Given the description of an element on the screen output the (x, y) to click on. 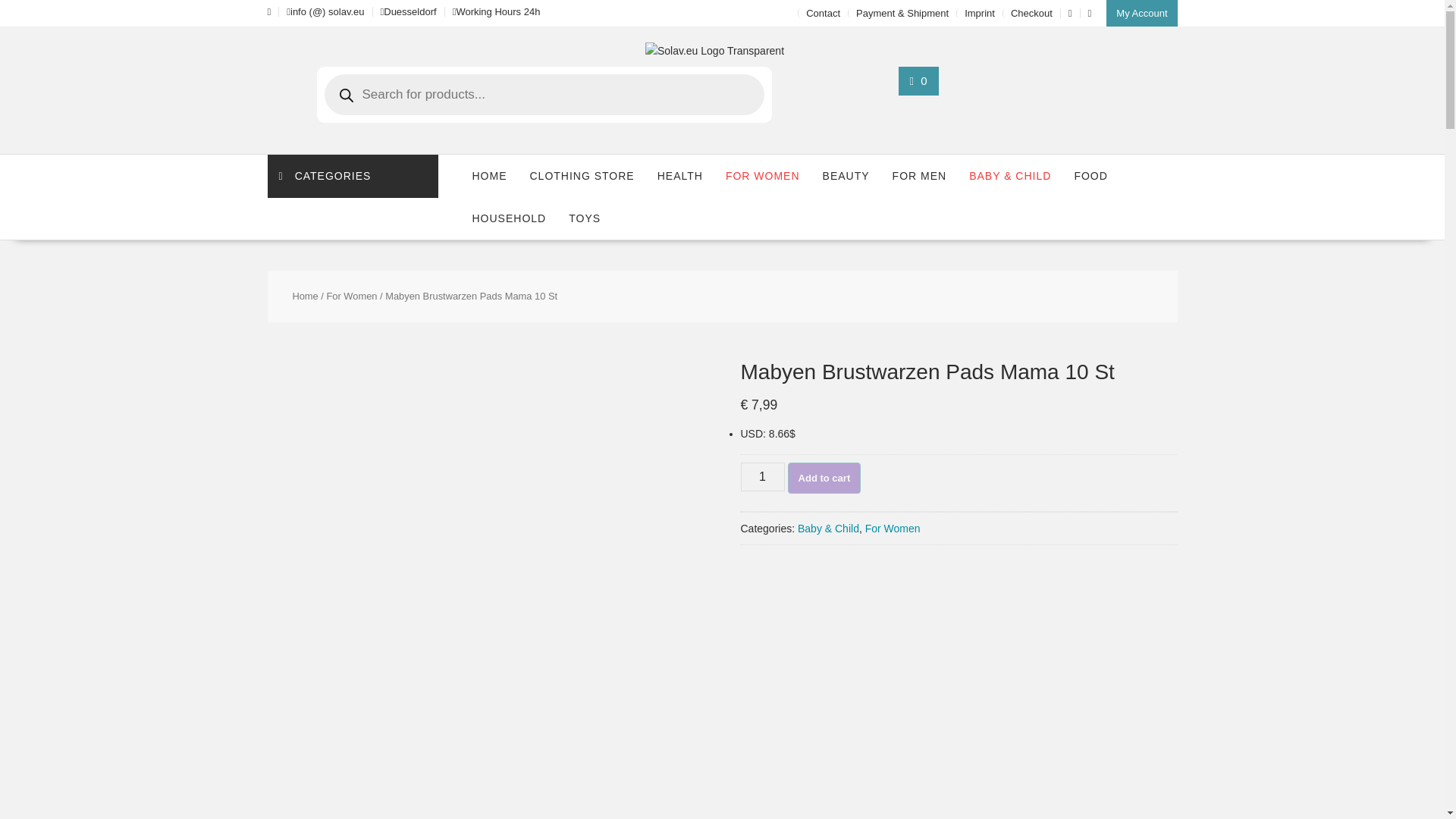
My Account (1141, 13)
CATEGORIES (352, 176)
Imprint (978, 12)
1 (761, 476)
0 (918, 80)
Checkout (1031, 12)
Contact (823, 12)
